Given the description of an element on the screen output the (x, y) to click on. 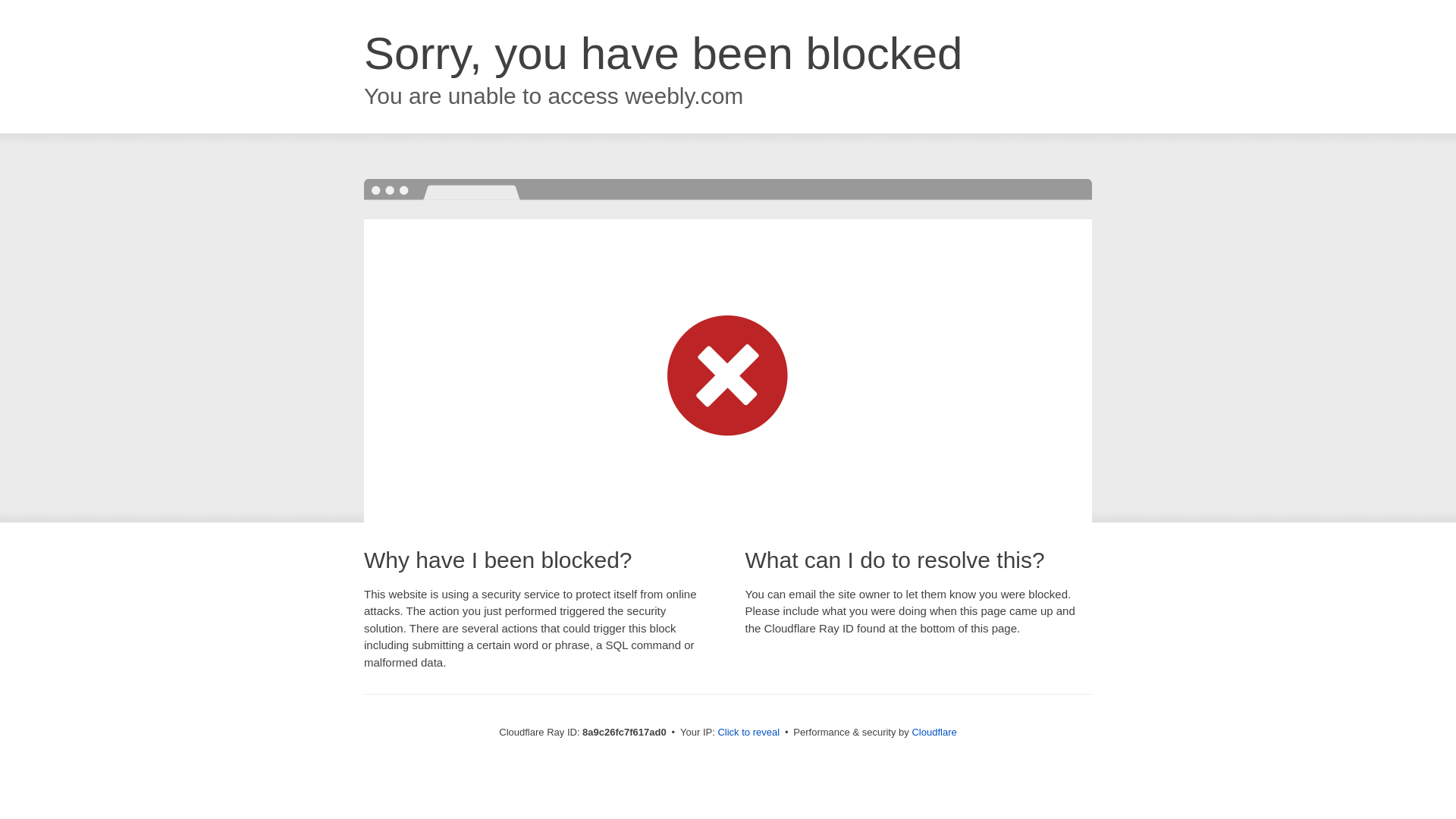
Cloudflare (933, 731)
Click to reveal (747, 732)
